Given the description of an element on the screen output the (x, y) to click on. 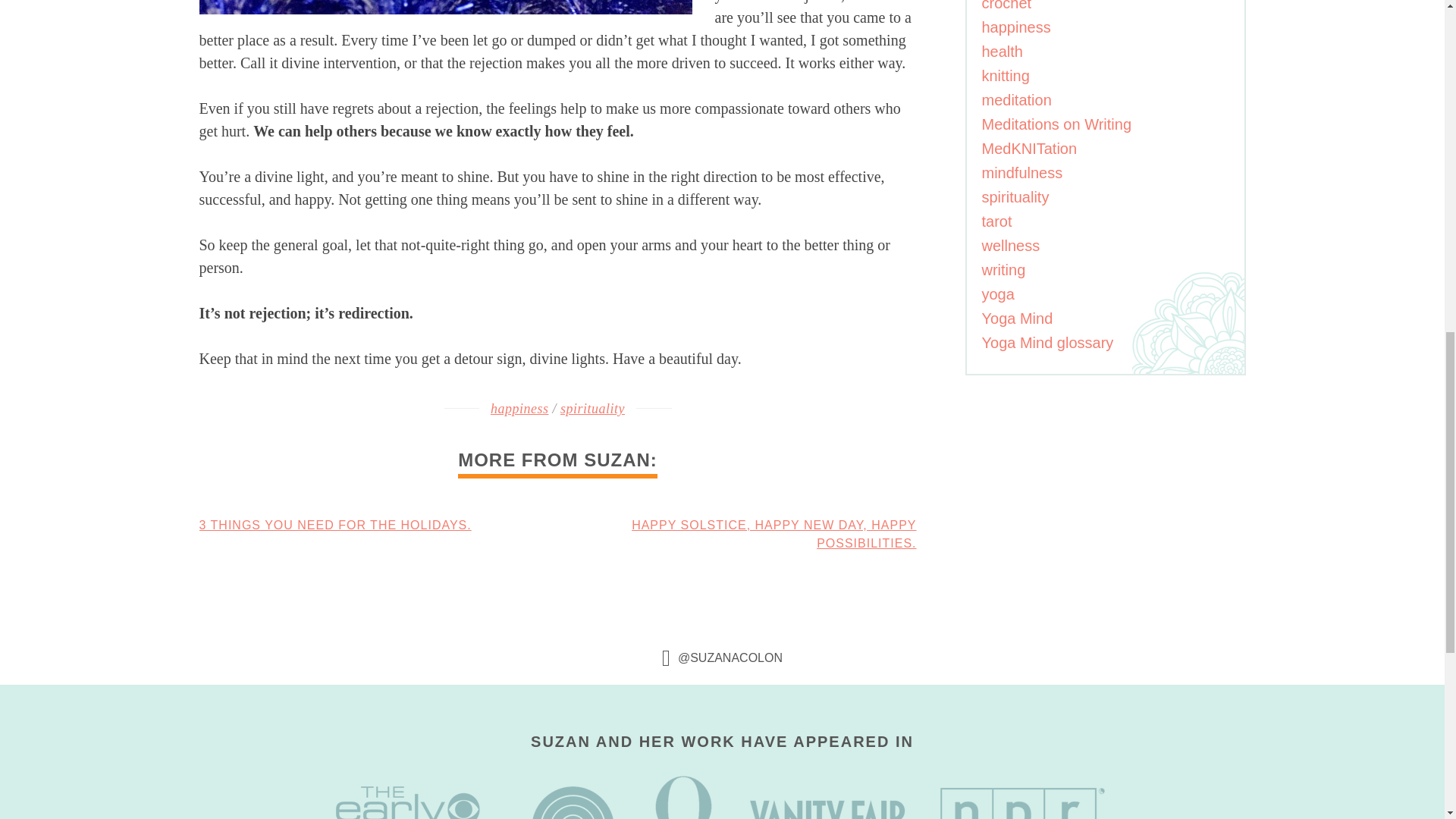
wellness (1010, 245)
Meditations on Writing (1056, 124)
Yoga Mind (1016, 318)
HAPPY SOLSTICE, HAPPY NEW DAY, HAPPY POSSIBILITIES. (773, 533)
3 THINGS YOU NEED FOR THE HOLIDAYS. (334, 524)
MedKNITation (1029, 148)
spirituality (1014, 197)
happiness (1015, 27)
happiness (519, 408)
yoga (997, 293)
knitting (1005, 75)
Yoga Mind glossary (1047, 342)
spirituality (592, 408)
crochet (1005, 5)
tarot (996, 221)
